Given the description of an element on the screen output the (x, y) to click on. 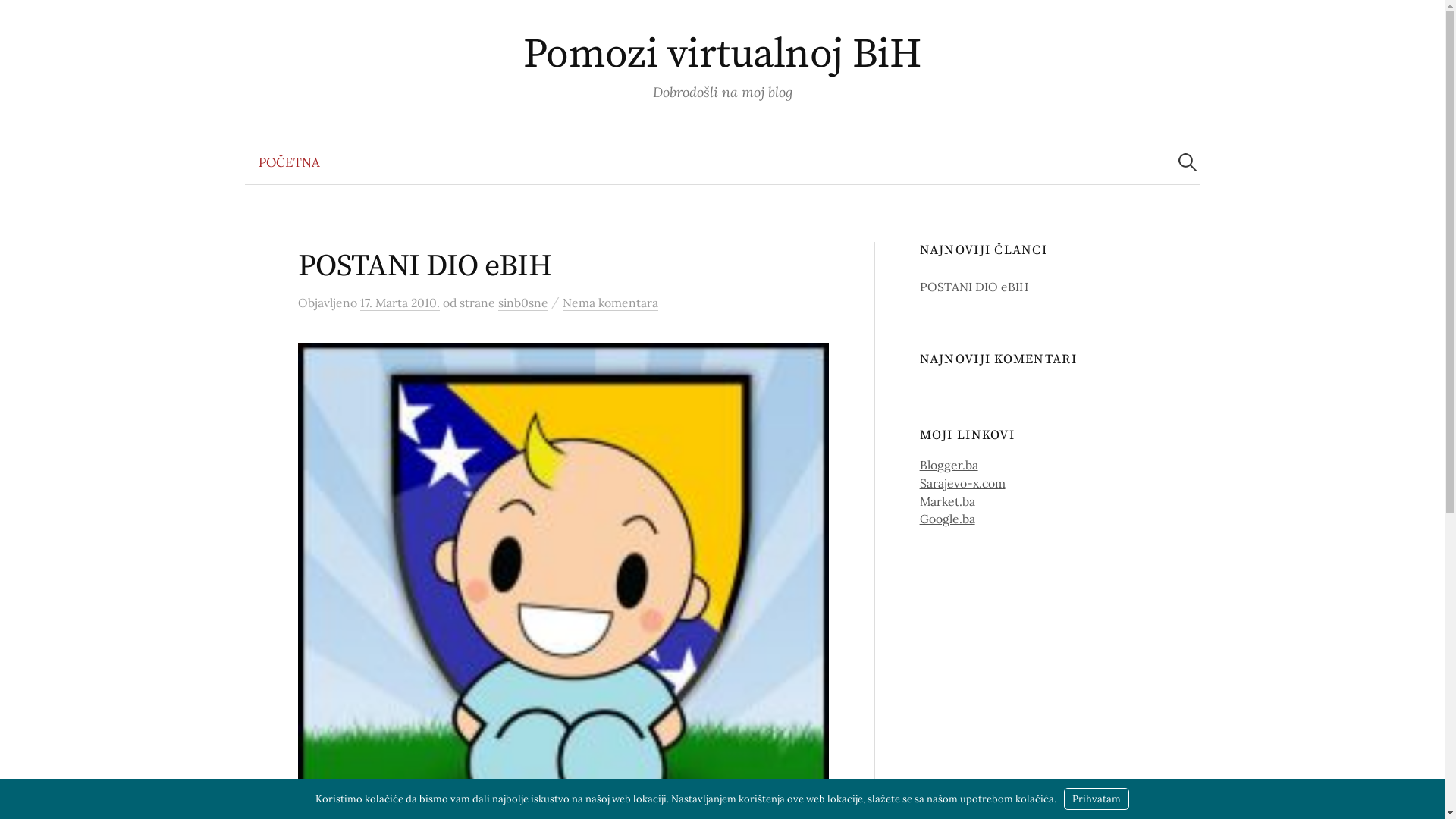
POSTANI DIO eBIH Element type: text (973, 286)
Market.ba Element type: text (947, 500)
Nema komentara
na POSTANI DIO eBIH Element type: text (610, 302)
17. Marta 2010. Element type: text (399, 302)
Blogger.ba Element type: text (948, 464)
POSTANI DIO eBIH Element type: text (424, 266)
sinb0sne Element type: text (522, 302)
Sarajevo-x.com Element type: text (962, 482)
Pomozi virtualnoj BiH Element type: text (722, 54)
Google.ba Element type: text (947, 518)
Pretraga Element type: text (18, 18)
Prihvatam Element type: text (1096, 798)
